Given the description of an element on the screen output the (x, y) to click on. 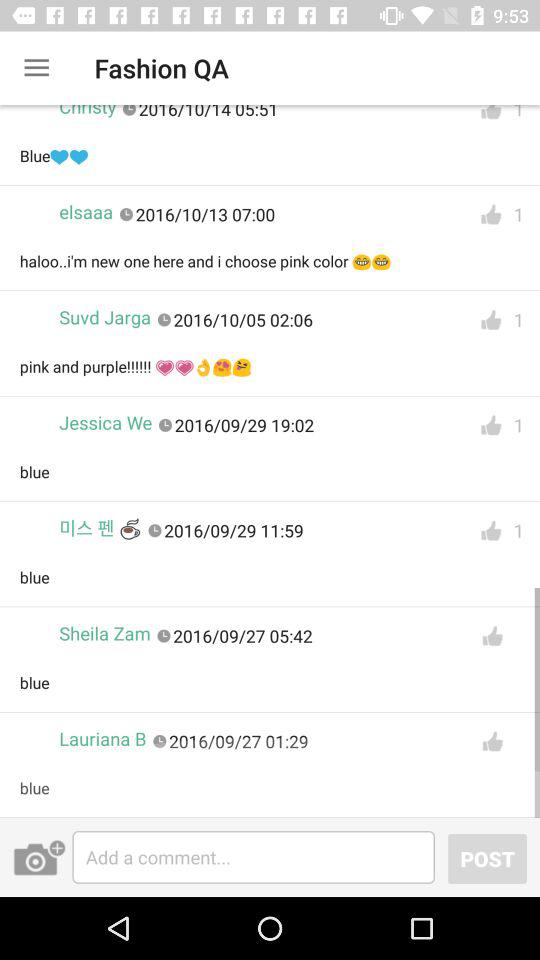
press item below blue icon (39, 857)
